Given the description of an element on the screen output the (x, y) to click on. 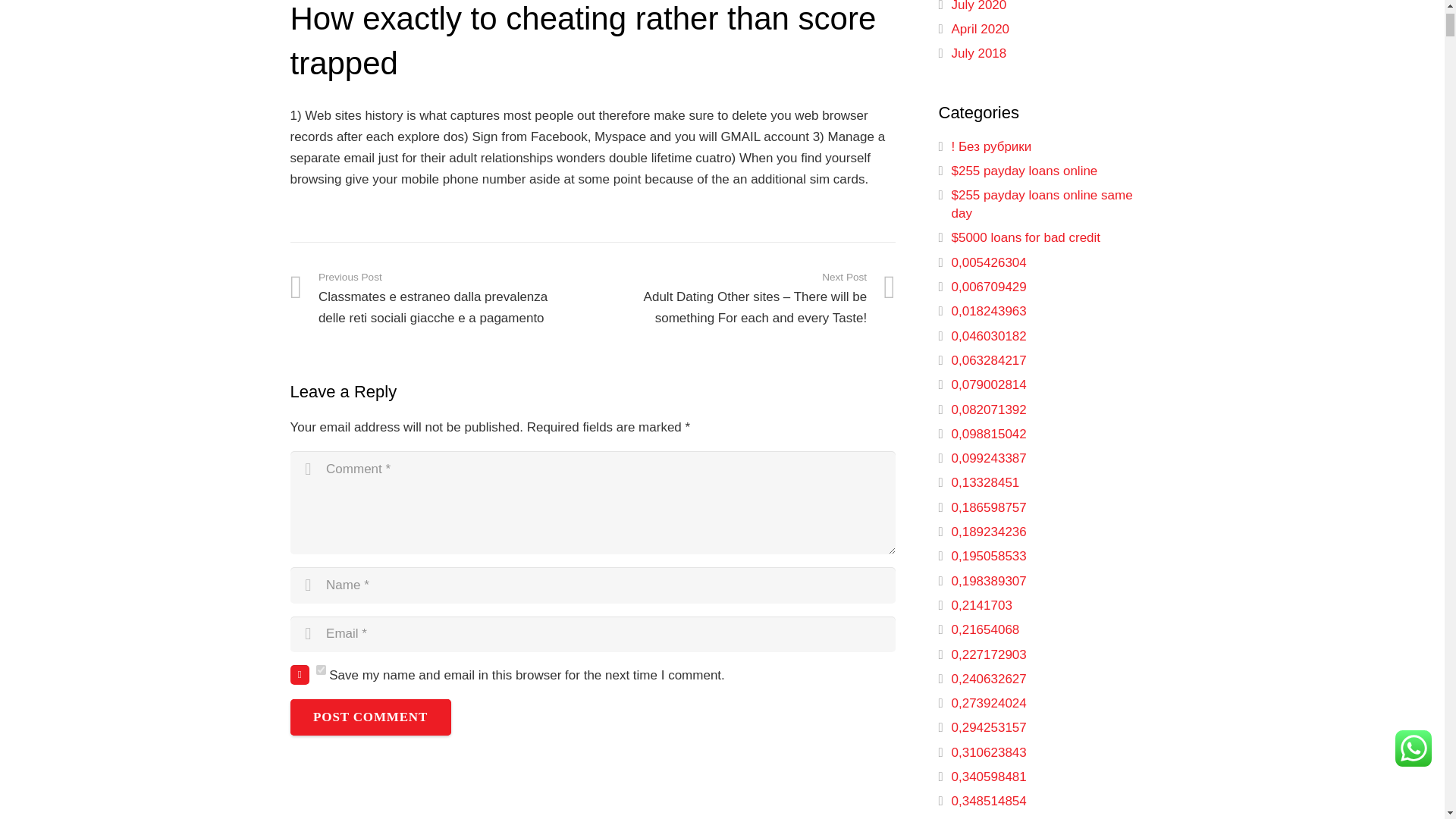
POST COMMENT (369, 717)
on (319, 669)
